Given the description of an element on the screen output the (x, y) to click on. 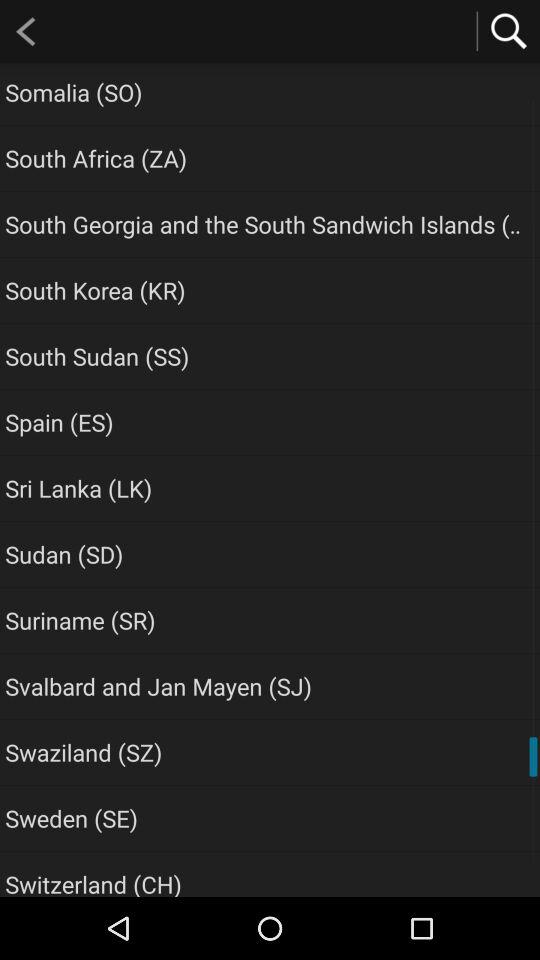
click app above the sudan (sd) icon (78, 488)
